Given the description of an element on the screen output the (x, y) to click on. 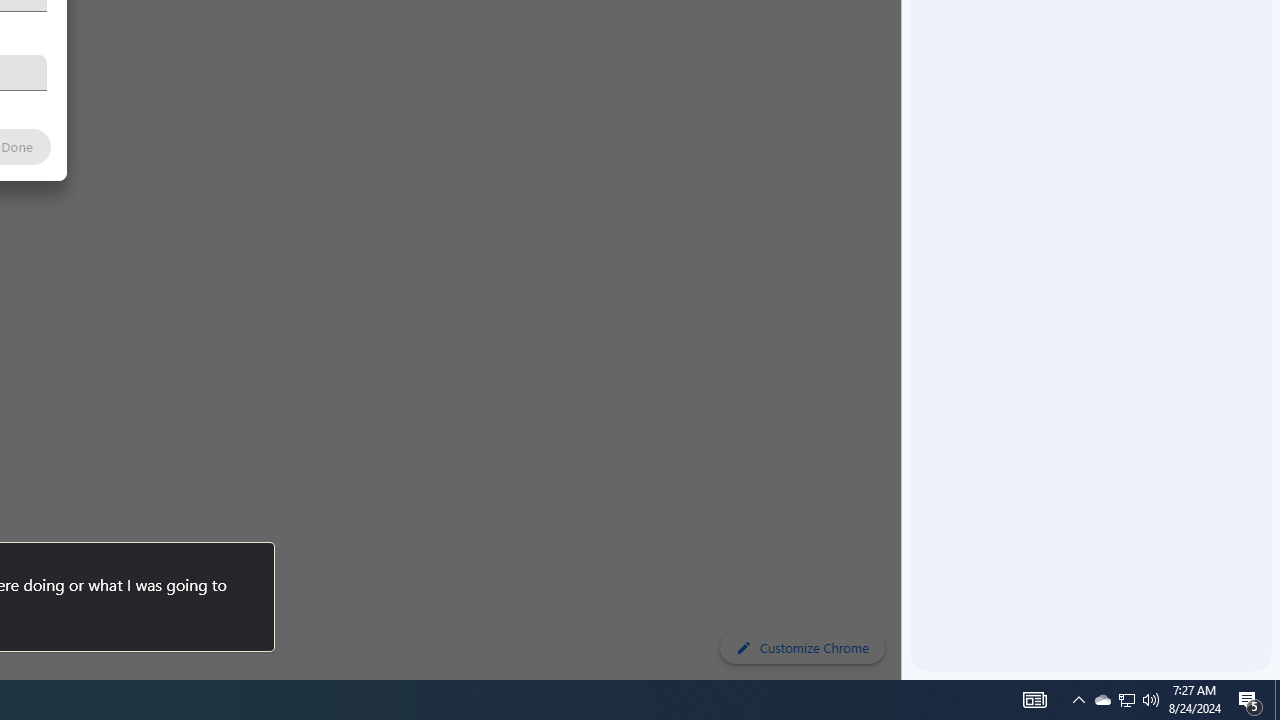
Side Panel Resize Handle (905, 39)
